Given the description of an element on the screen output the (x, y) to click on. 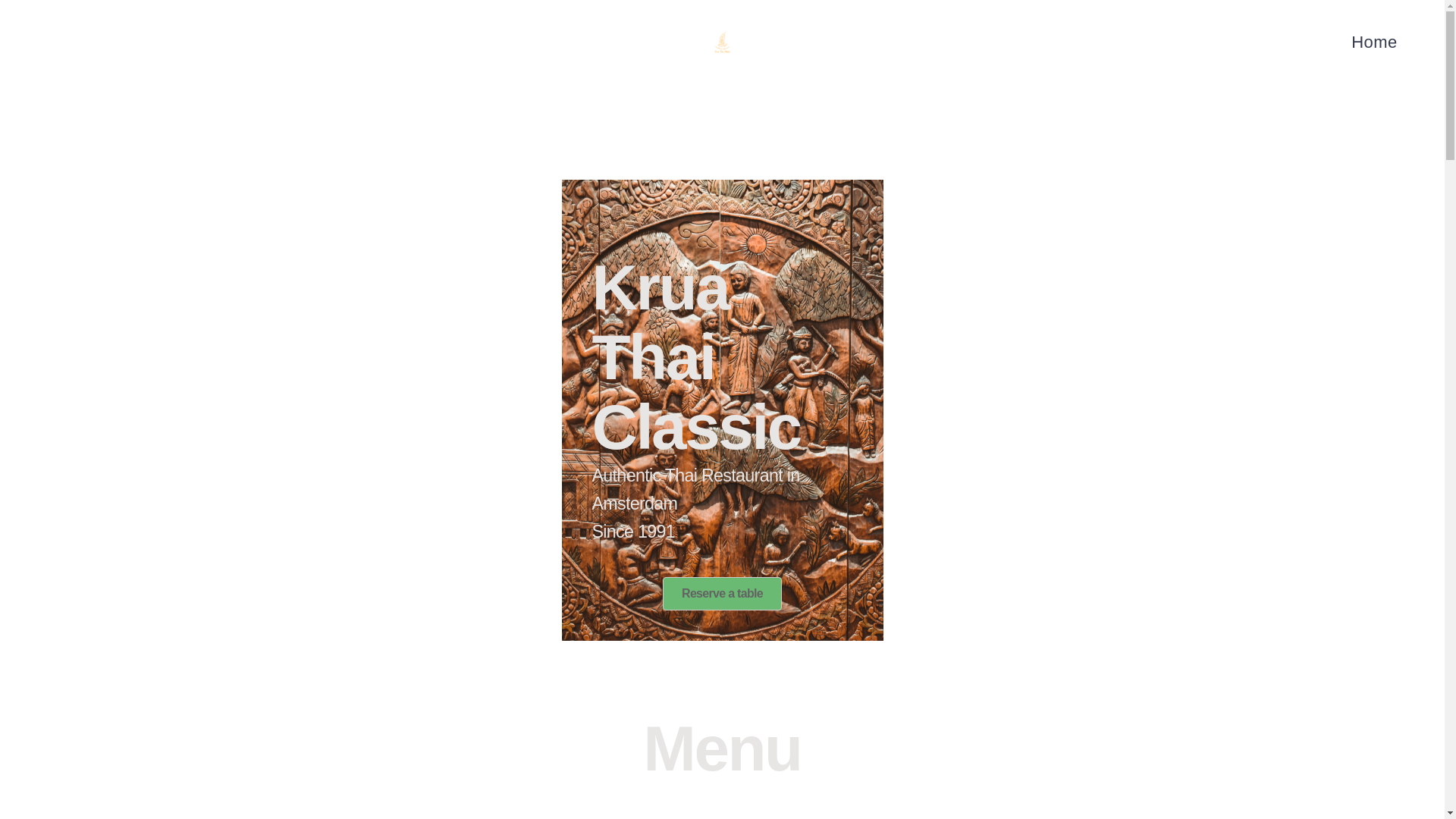
Reserve a table (721, 593)
Krua Thai Classic (905, 86)
Home (1373, 37)
